Given the description of an element on the screen output the (x, y) to click on. 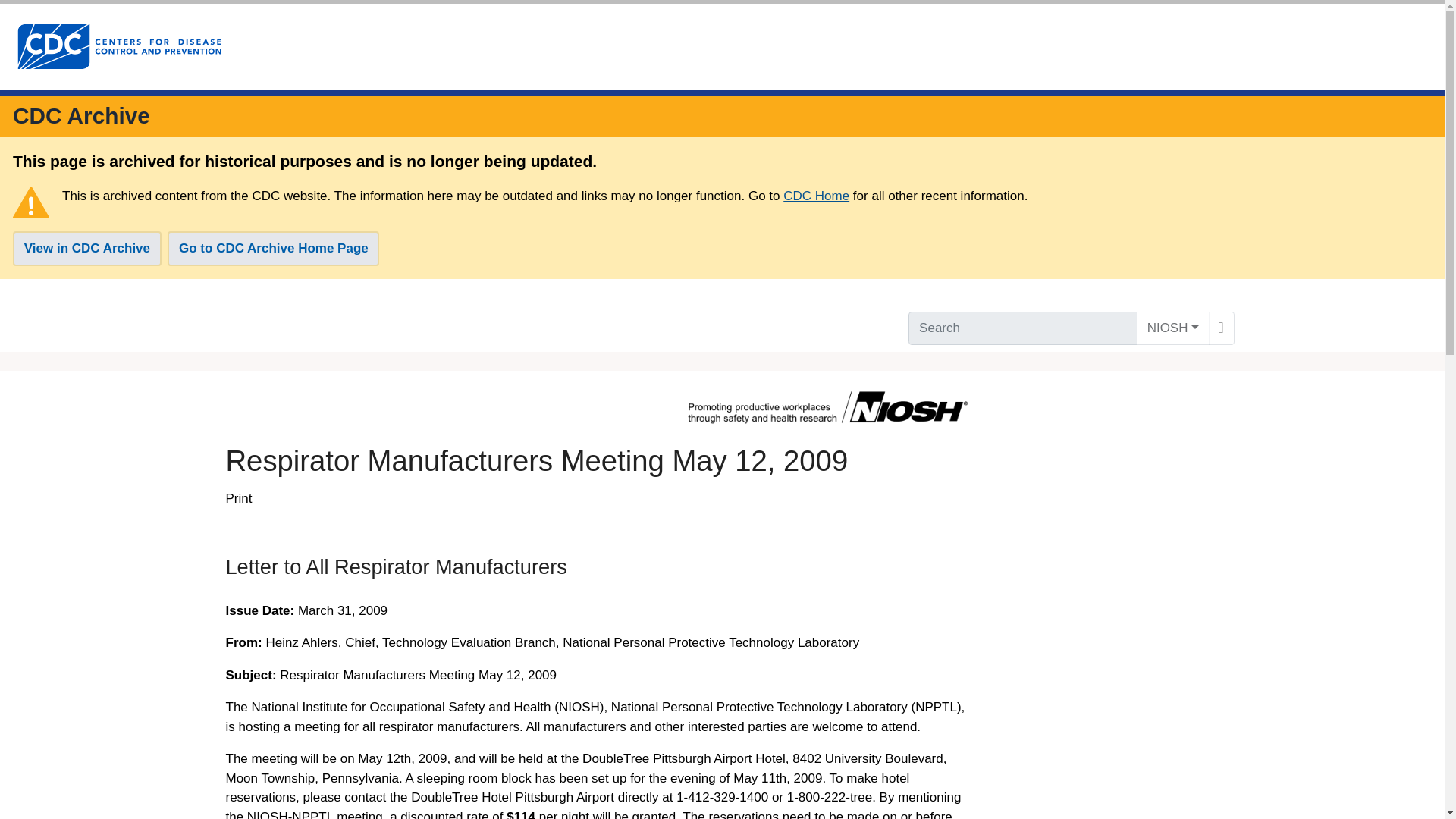
CDC Archive (81, 115)
CDC Archive Home (81, 115)
NIOSH (1173, 328)
View in CDC Archive (87, 248)
Go to CDC Archive Home Page (272, 248)
Print (238, 498)
CDC Home (815, 196)
